Given the description of an element on the screen output the (x, y) to click on. 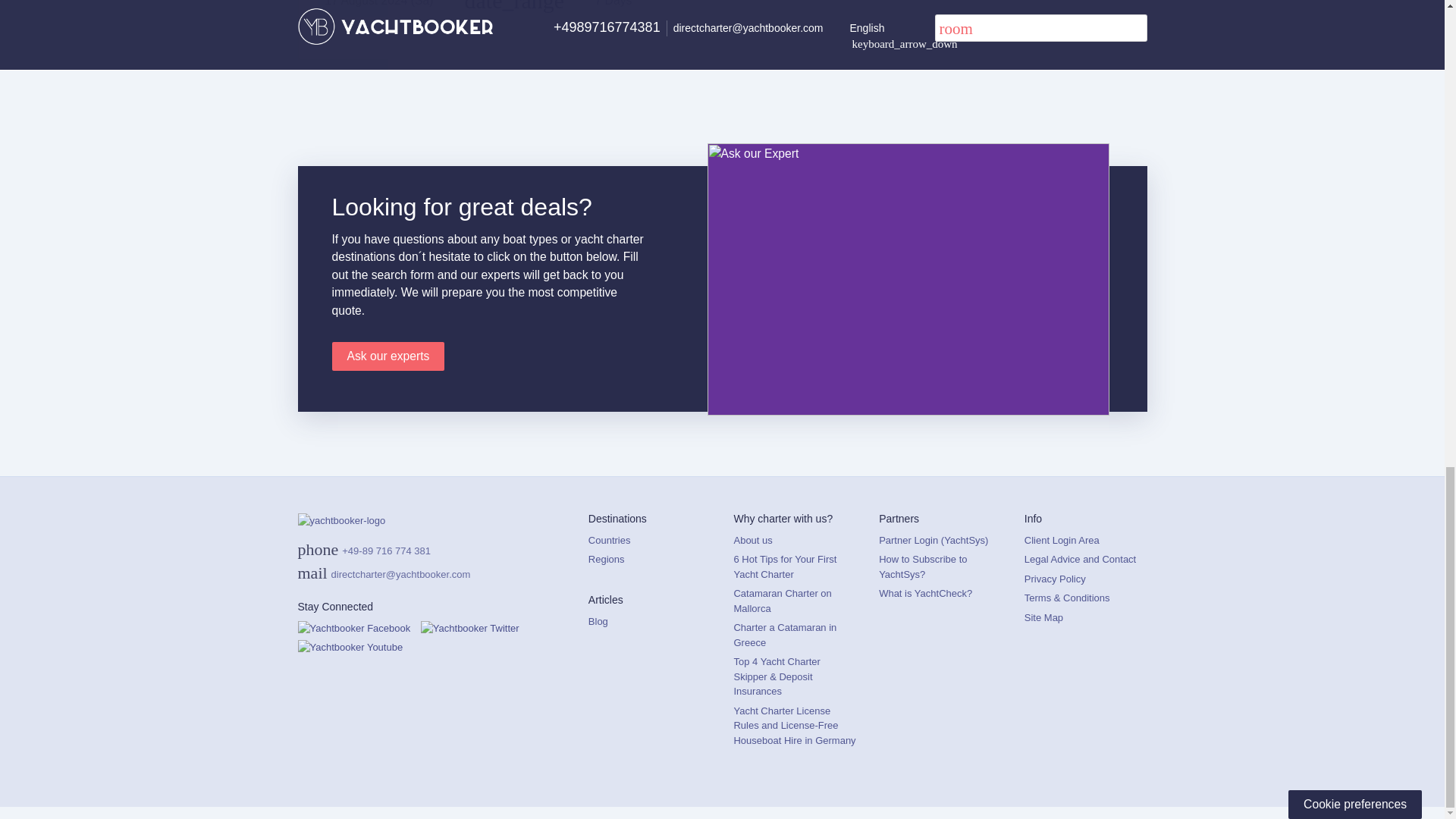
Ask our experts (388, 356)
